Given the description of an element on the screen output the (x, y) to click on. 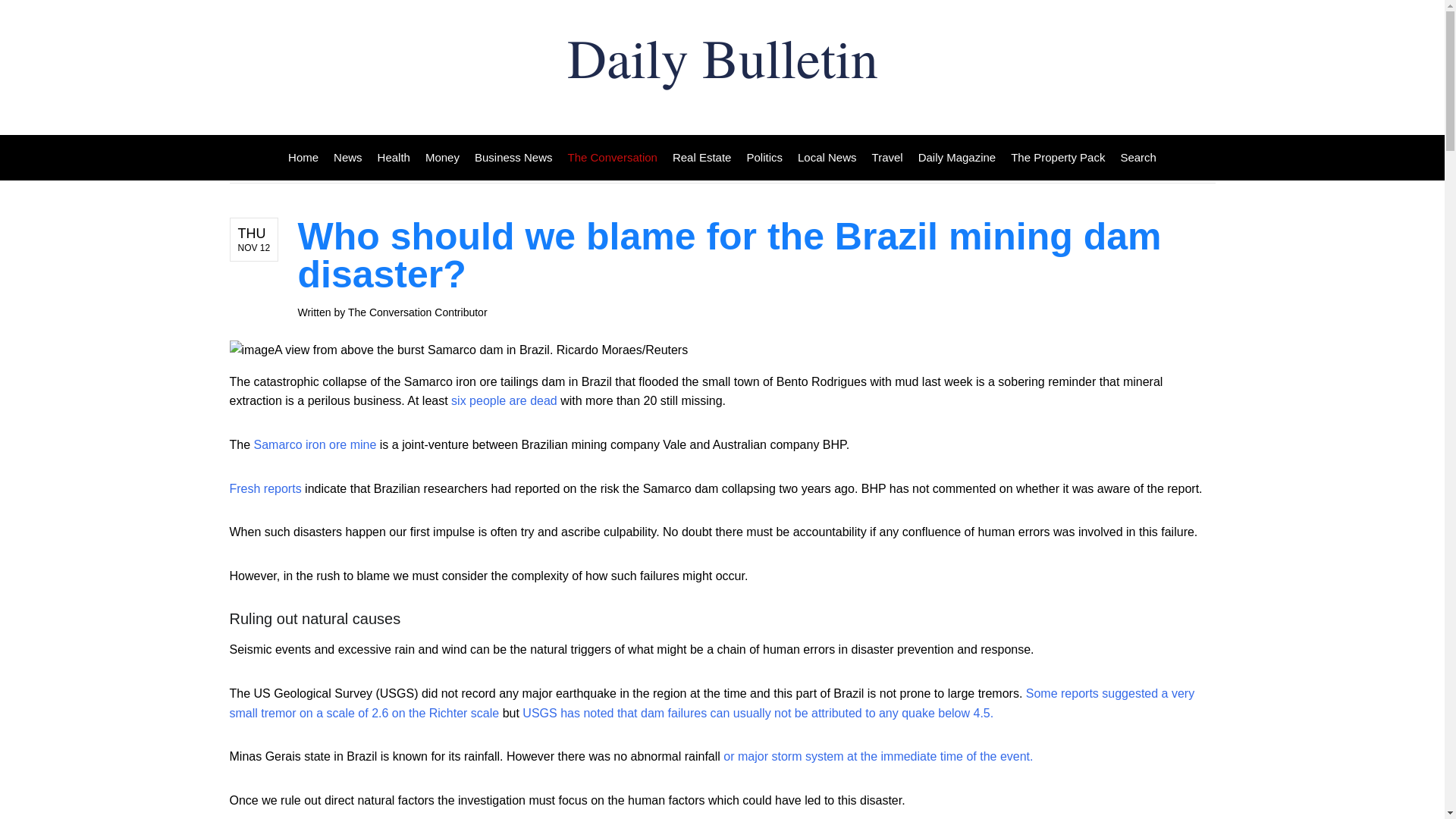
Search (1134, 157)
Daily Magazine (957, 157)
The Property Pack (1057, 157)
Real Estate (702, 157)
Who should we blame for the Brazil mining dam disaster? (728, 255)
Local News (827, 157)
Politics (764, 157)
Business News (513, 157)
The Conversation (612, 157)
Travel (887, 157)
